Given the description of an element on the screen output the (x, y) to click on. 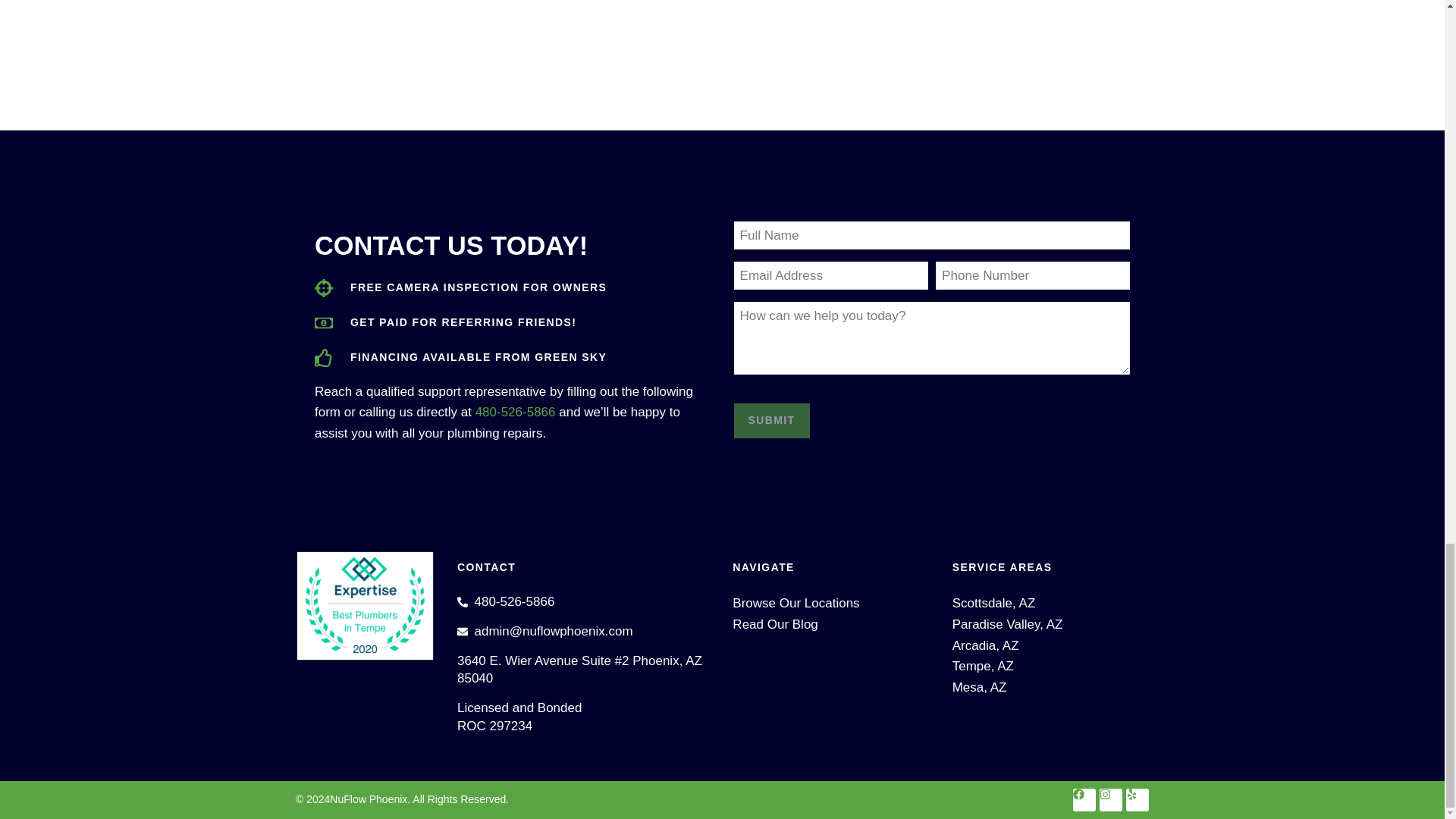
Submit (771, 420)
